Given the description of an element on the screen output the (x, y) to click on. 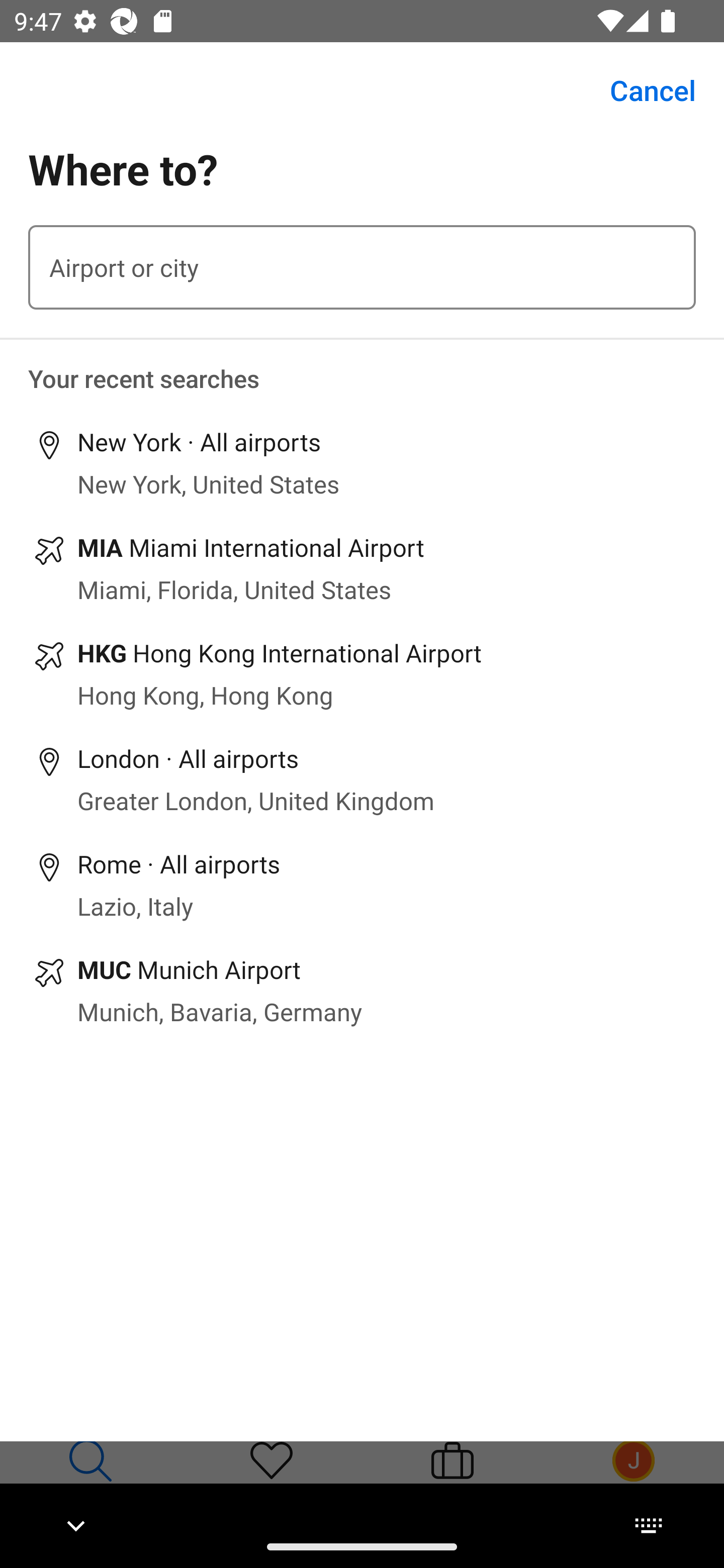
Cancel (641, 90)
Airport or city (361, 266)
New York · All airports New York, United States (362, 462)
Rome · All airports Lazio, Italy (362, 884)
MUC Munich Airport Munich, Bavaria, Germany (362, 989)
